Given the description of an element on the screen output the (x, y) to click on. 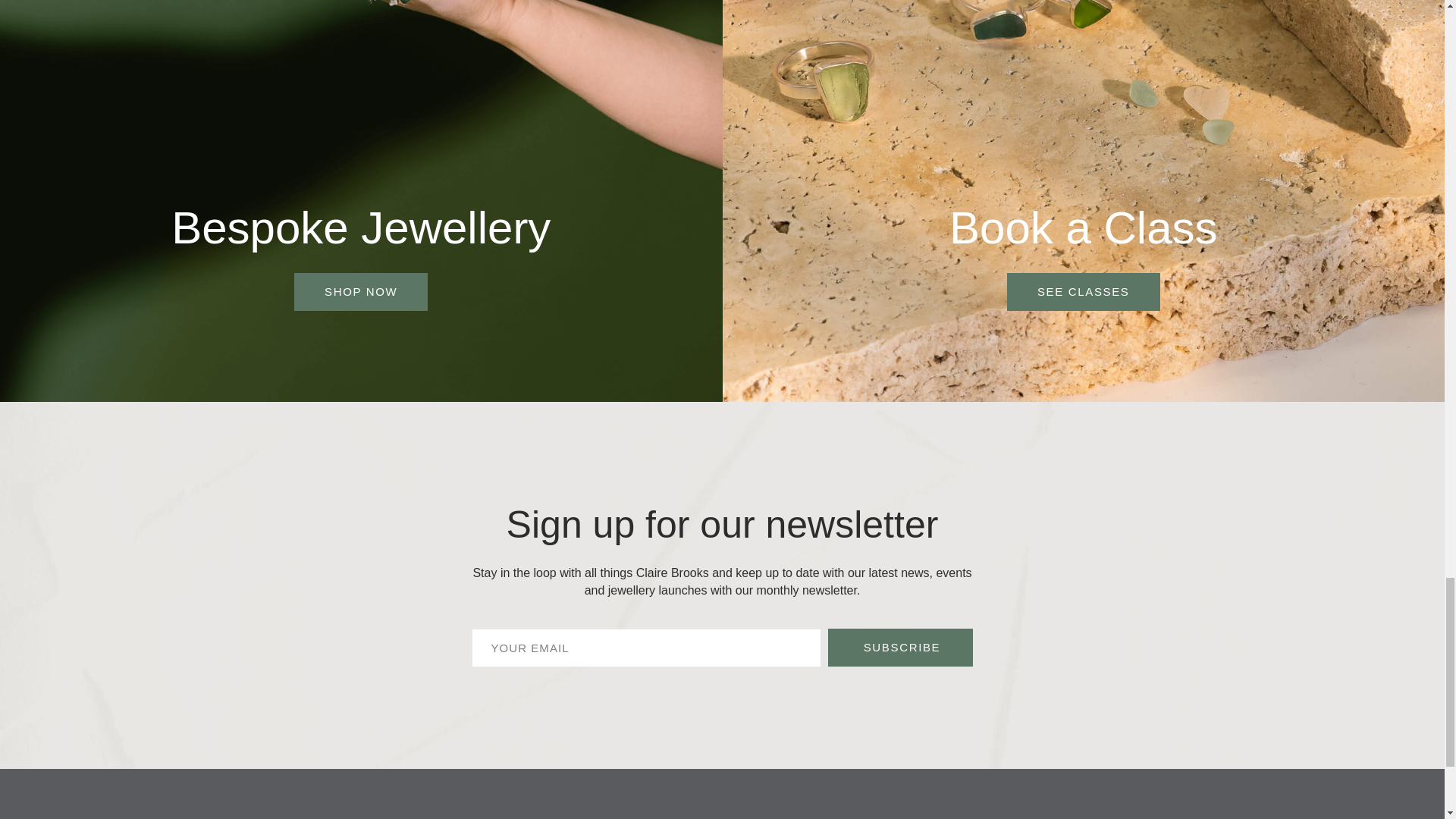
SHOP NOW (361, 291)
SEE CLASSES (1083, 291)
